Given the description of an element on the screen output the (x, y) to click on. 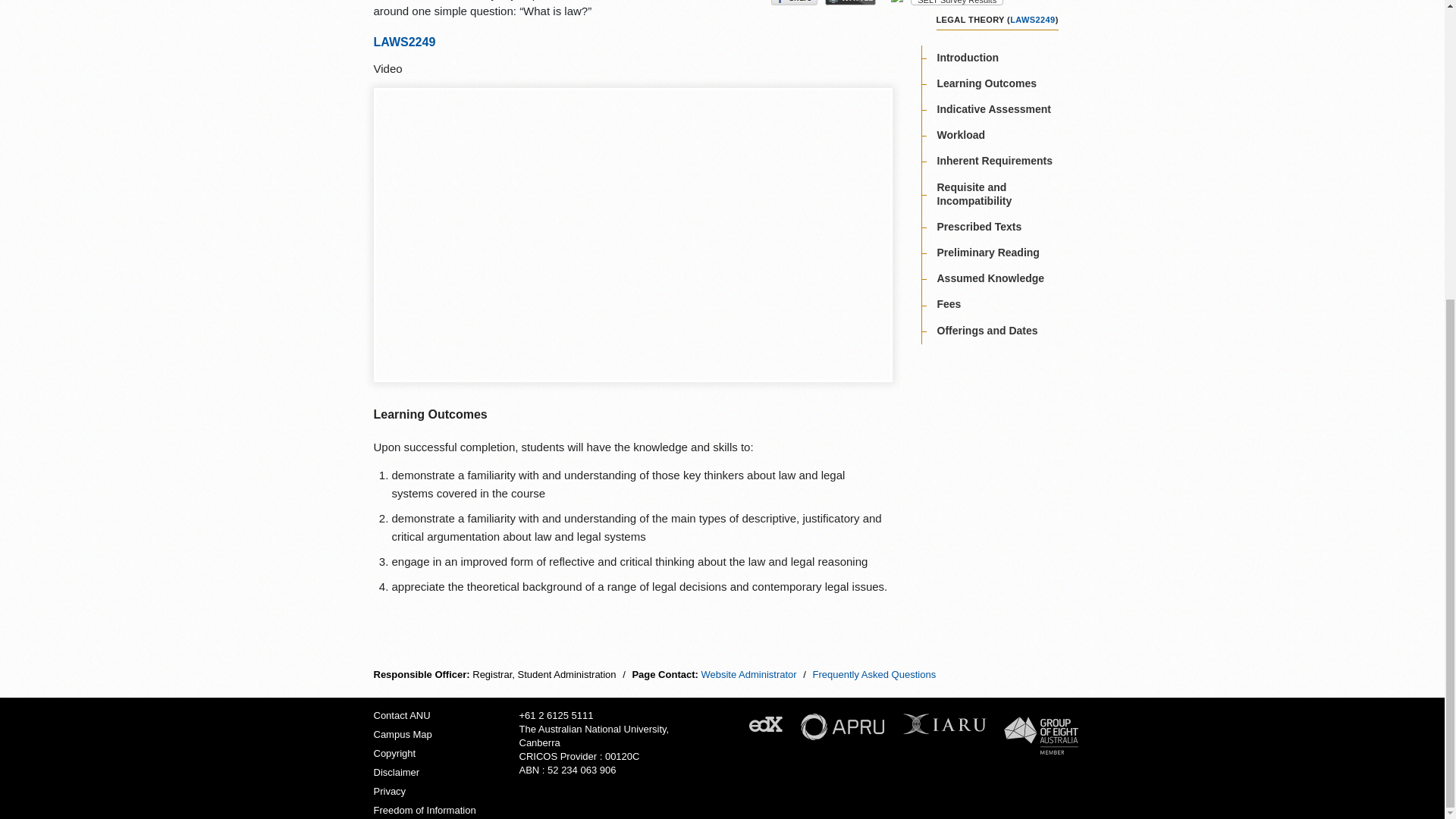
Share on Facebook (793, 2)
LAWS2249 (1032, 19)
Tweet (749, 1)
Wattle Share (850, 2)
